Given the description of an element on the screen output the (x, y) to click on. 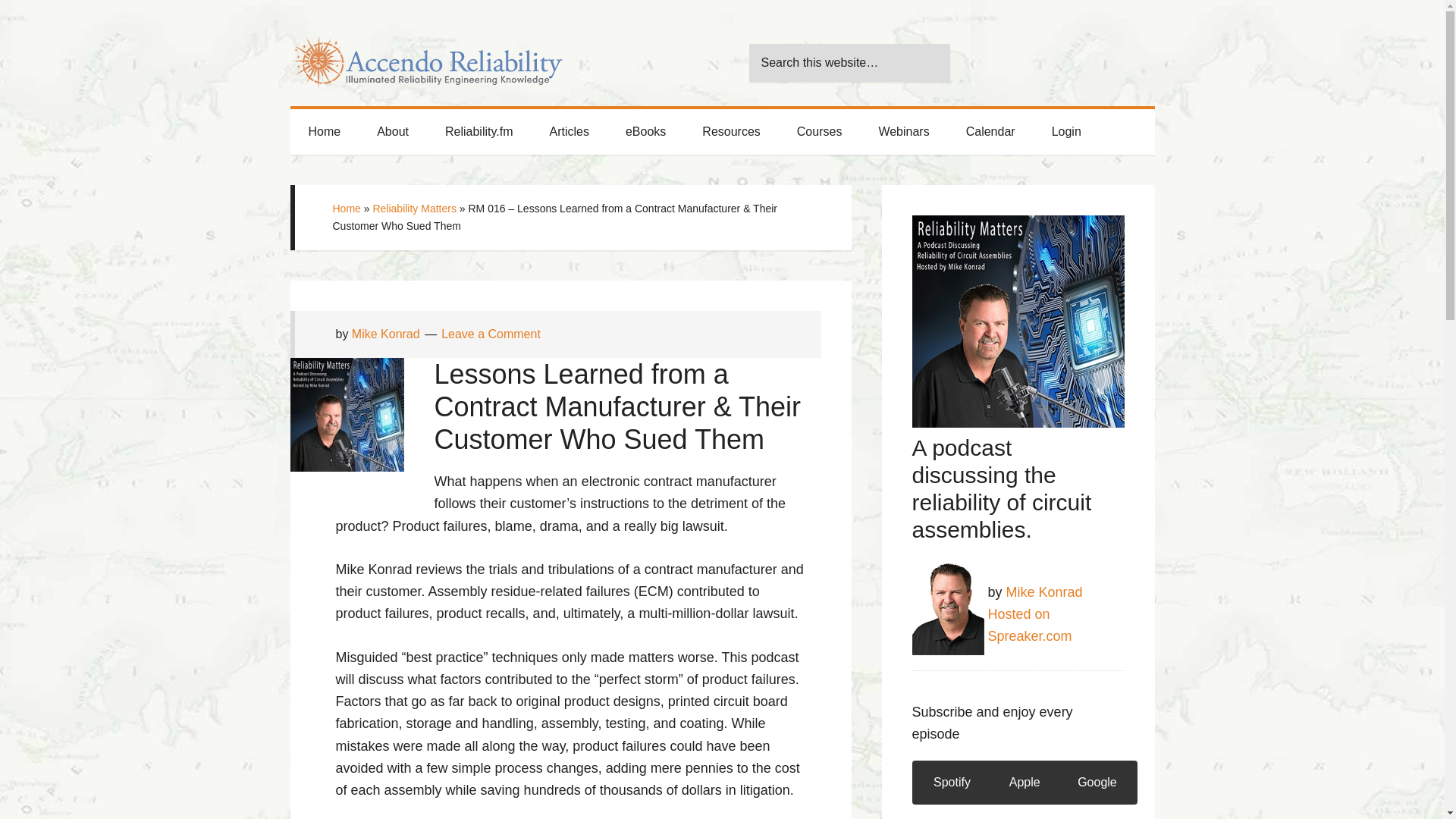
Free downloads for Accendo Reliability members (645, 131)
Home page (323, 131)
About (392, 131)
Home (323, 131)
Accendo Reliability (425, 53)
Reliability.fm (478, 131)
Articles (569, 131)
A reliability engineering focused podcast network (478, 131)
